Given the description of an element on the screen output the (x, y) to click on. 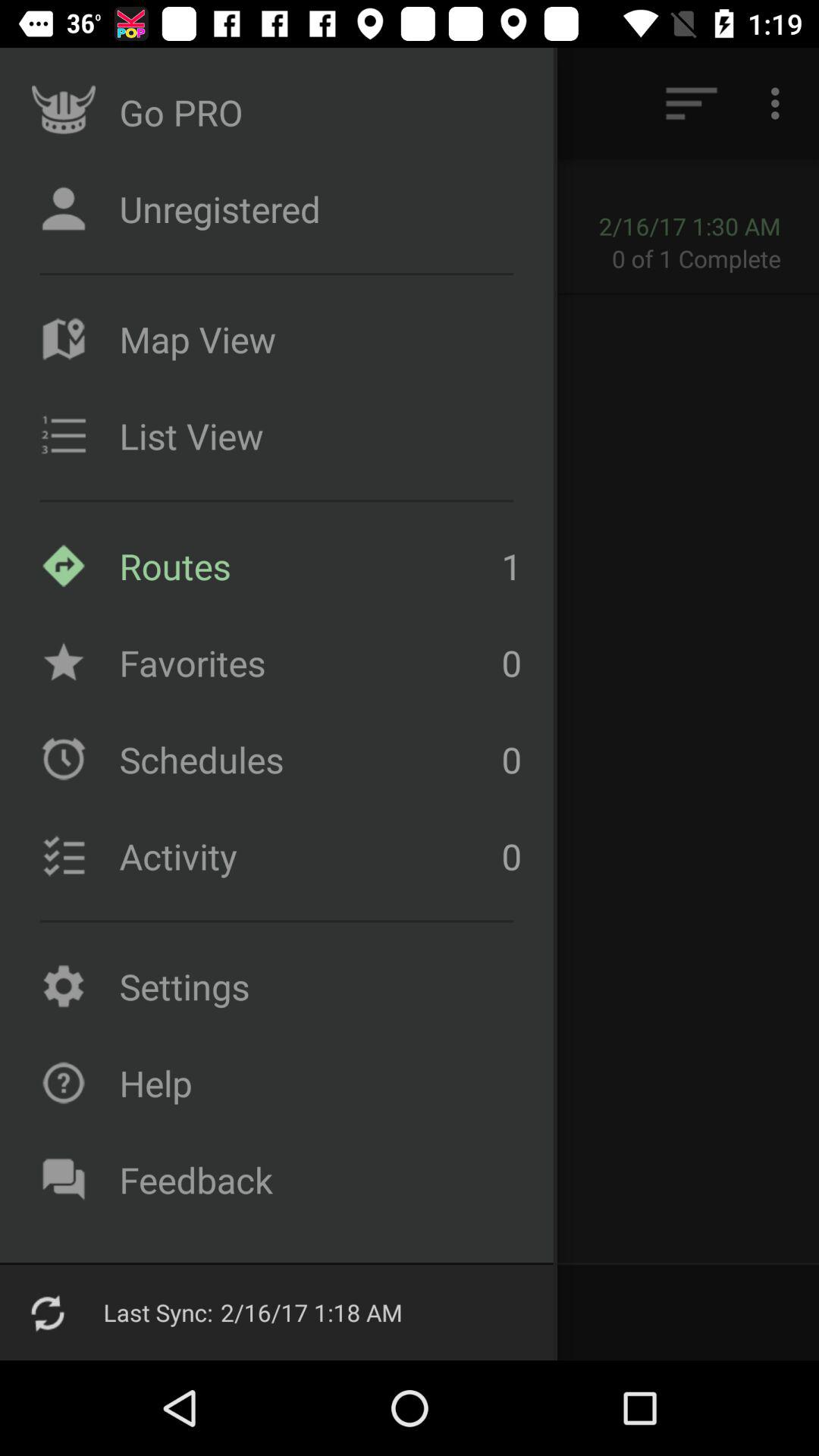
flip to the feedback icon (316, 1179)
